Given the description of an element on the screen output the (x, y) to click on. 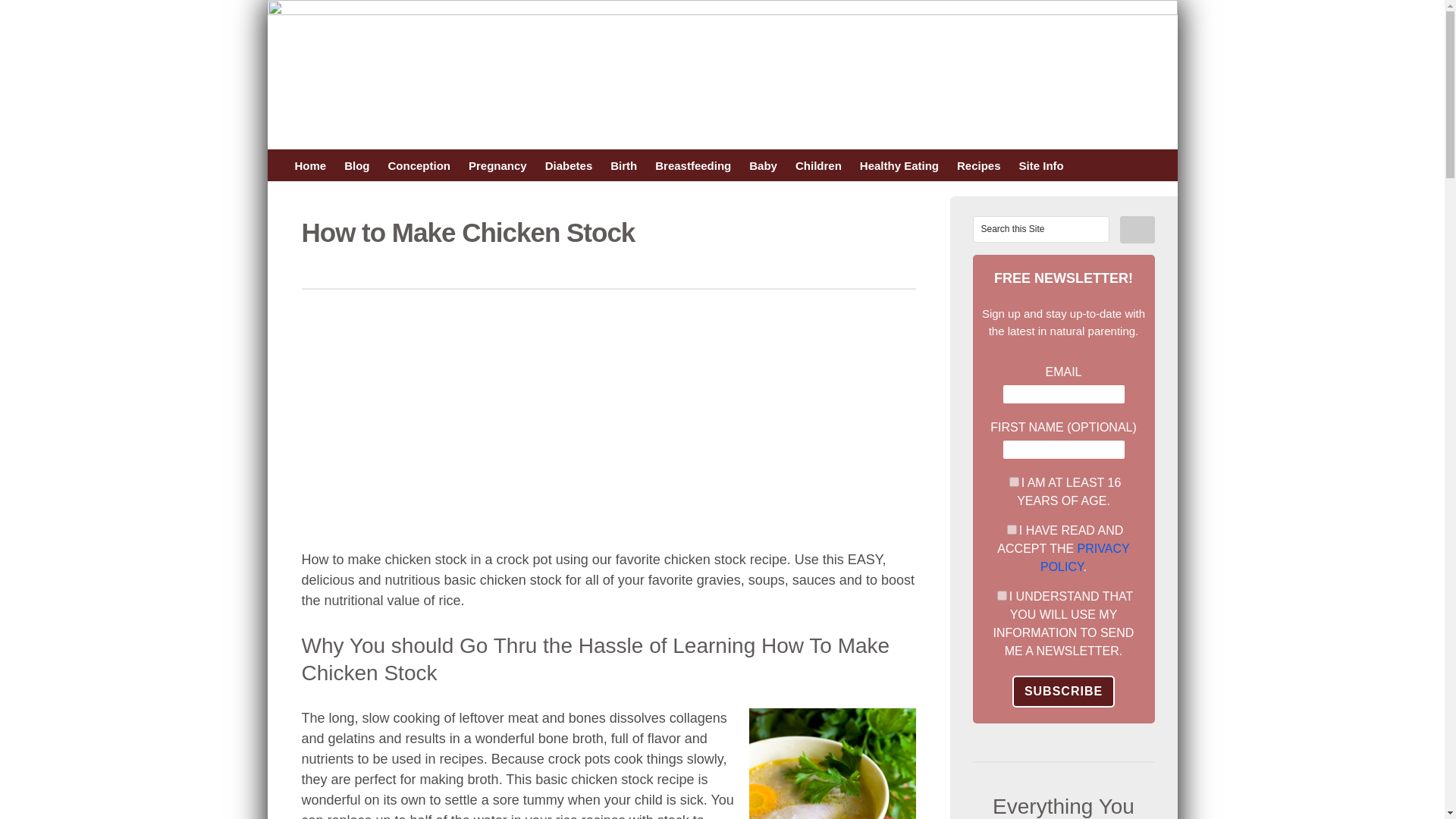
Search this Site (1040, 229)
Basic Chicken Stock Recipe (832, 763)
Home (309, 164)
Search this Site (1040, 229)
on (1011, 529)
NATURAL-PARENTING-ADVICE.COM (585, 77)
Blog (356, 164)
on (1002, 595)
on (1014, 481)
Go (1136, 229)
